Given the description of an element on the screen output the (x, y) to click on. 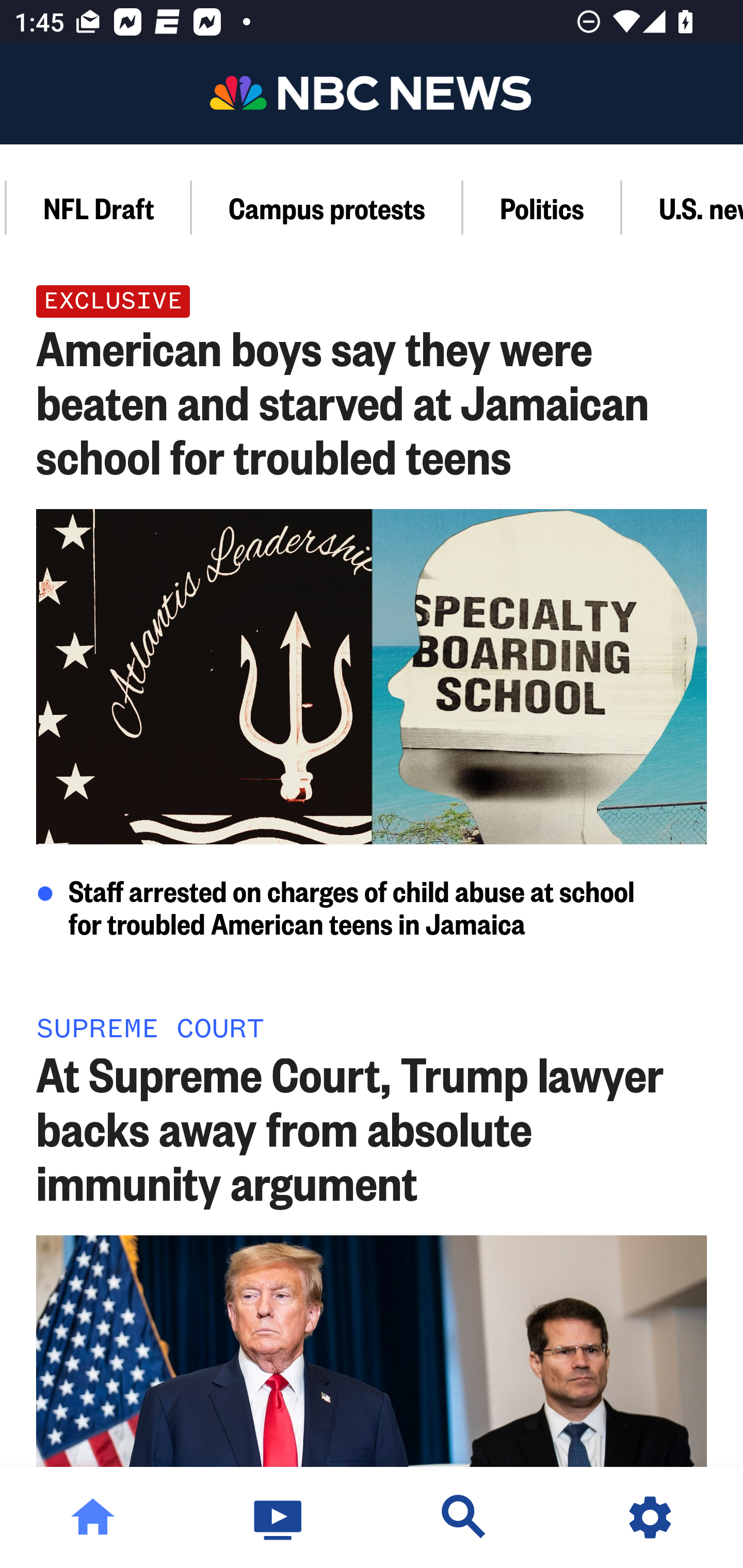
NFL Draft (98, 207)
Campus protests (327, 207)
Politics Section,Politics (542, 207)
Watch (278, 1517)
Discover (464, 1517)
Settings (650, 1517)
